Given the description of an element on the screen output the (x, y) to click on. 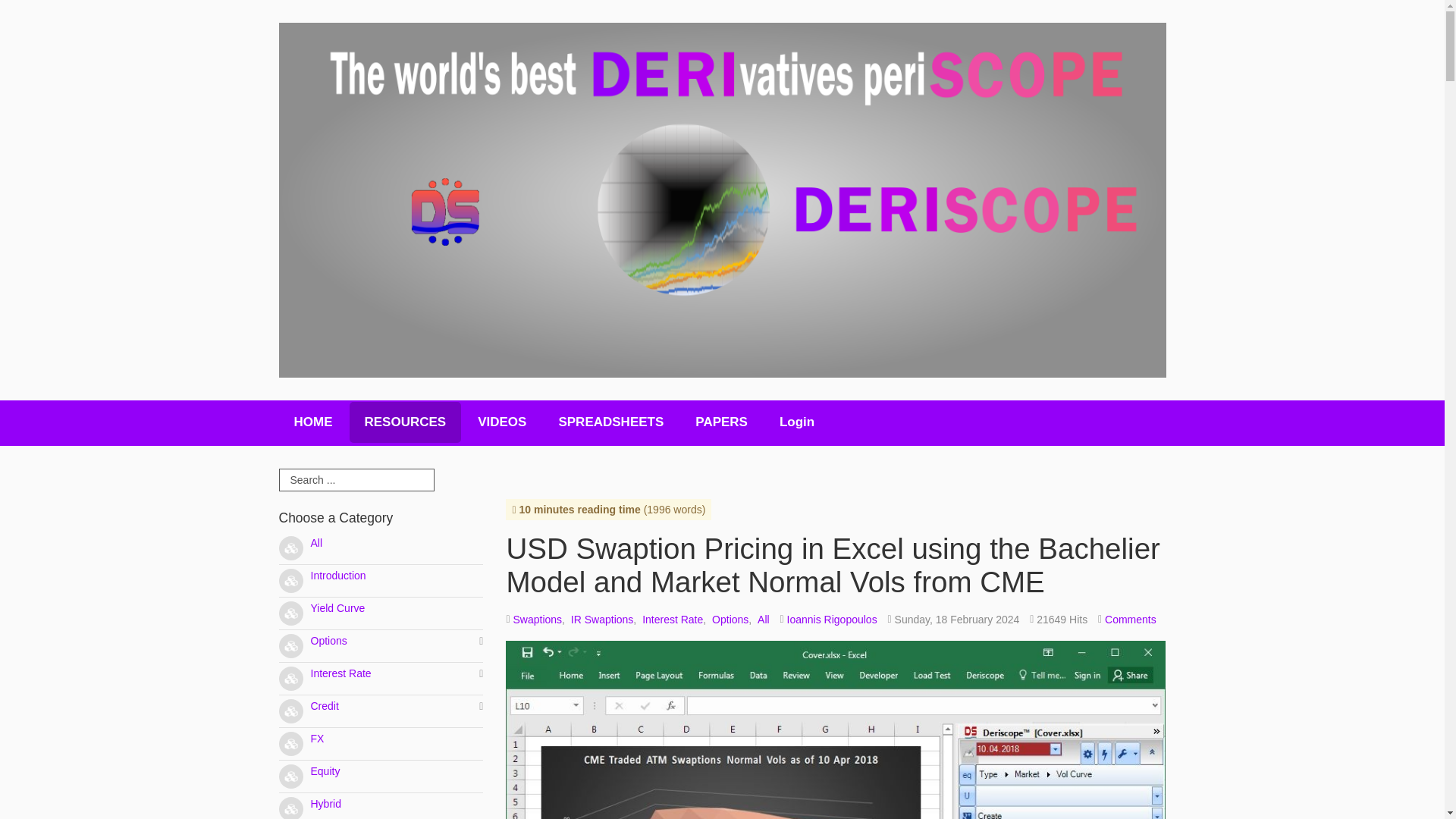
Credit (325, 705)
PAPERS (720, 422)
FX (317, 738)
All (317, 542)
cover (835, 729)
Interest Rate (341, 673)
Options (329, 640)
Search ... (356, 479)
HOME (313, 422)
RESOURCES (405, 422)
VIDEOS (502, 422)
Yield Curve (338, 607)
Introduction (338, 575)
Search ... (356, 479)
SPREADSHEETS (610, 422)
